Given the description of an element on the screen output the (x, y) to click on. 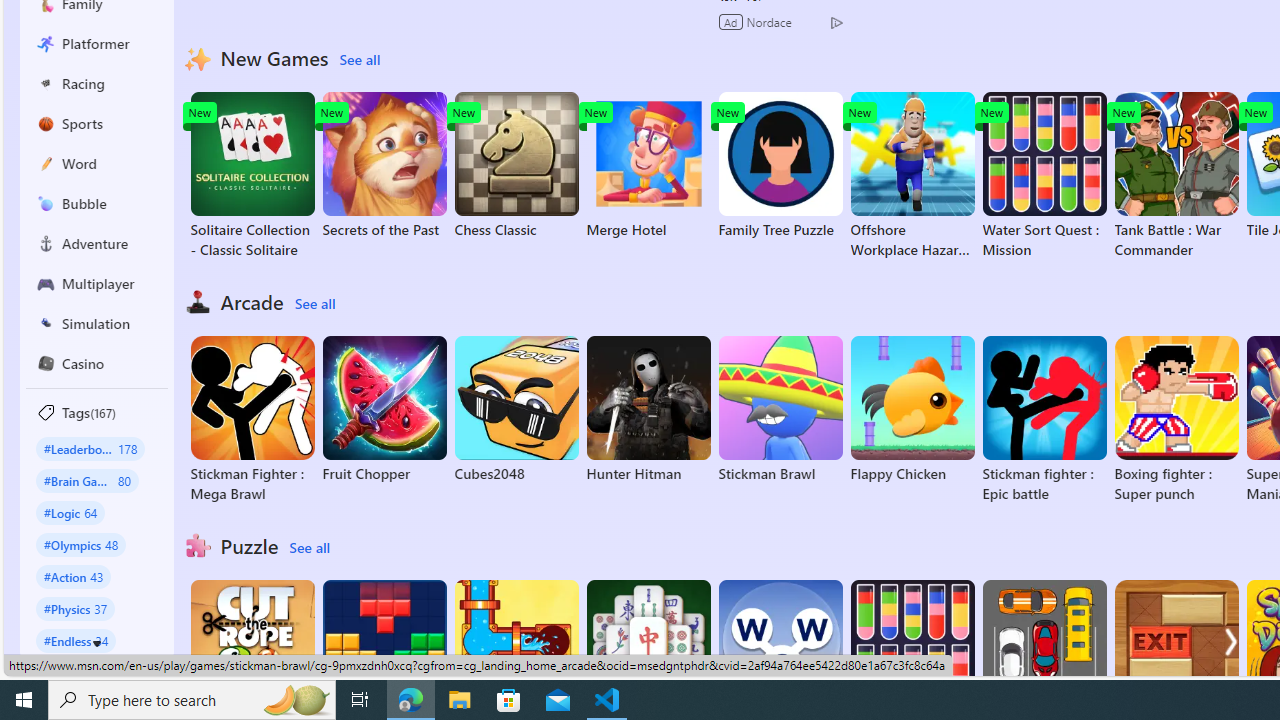
Family Tree Puzzle (780, 165)
Solitaire Collection - Classic Solitaire (251, 175)
Tank Battle : War Commander (1176, 175)
Class: arrow-bottom button-default-style-remove (97, 643)
See all (309, 547)
Fruit Chopper (384, 409)
#Endless 34 (75, 640)
Stickman Brawl (780, 409)
#Brain Games 80 (87, 480)
#Action 43 (73, 575)
#Skill Based 33 (84, 672)
Secrets of the Past (384, 165)
Class: ad-choice  ad-choice-mono  (836, 21)
Stickman fighter : Epic battle (1044, 419)
